Given the description of an element on the screen output the (x, y) to click on. 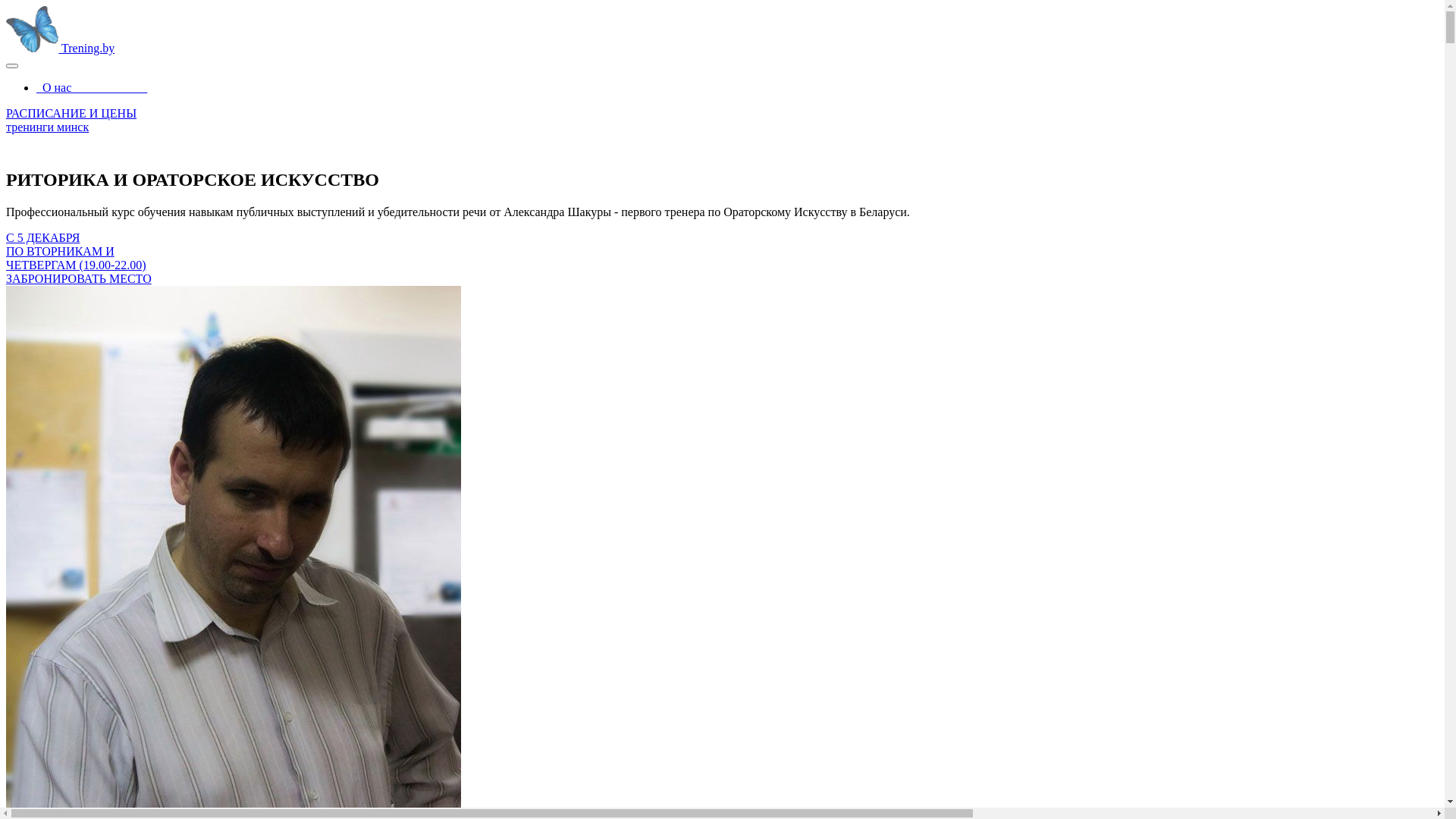
Trening.by Element type: text (87, 47)
